Given the description of an element on the screen output the (x, y) to click on. 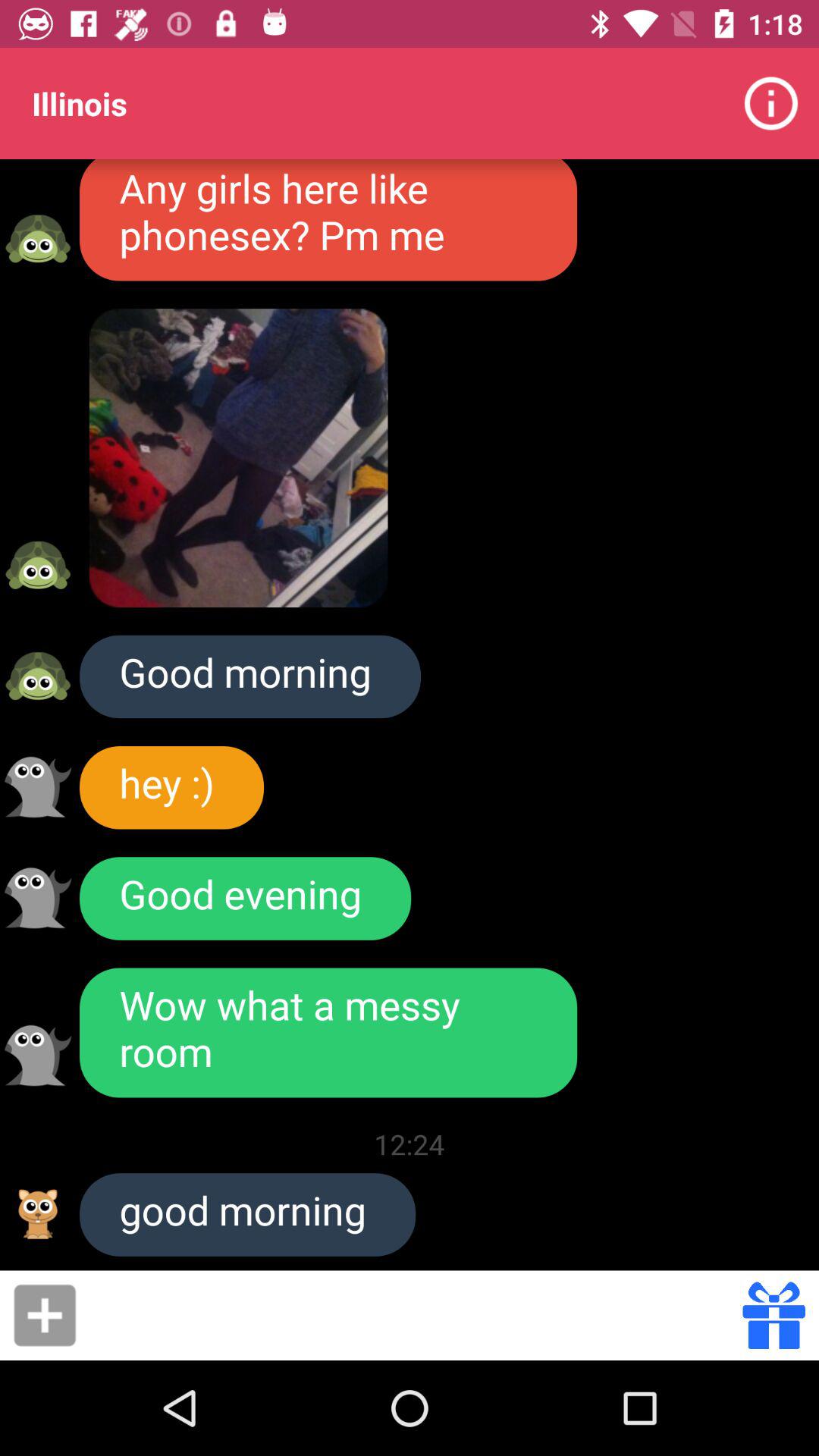
turn off item above the 12:24 icon (328, 1032)
